Given the description of an element on the screen output the (x, y) to click on. 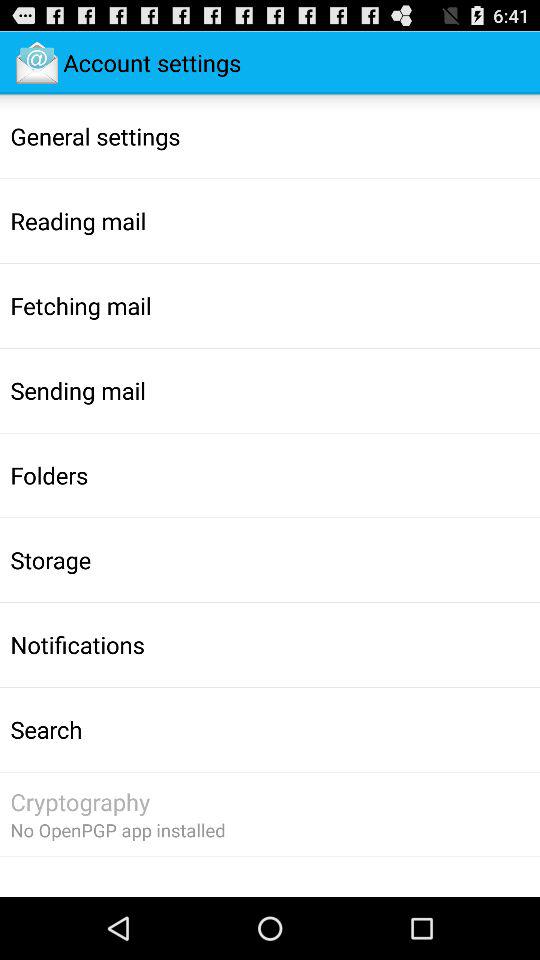
scroll to sending mail (77, 390)
